Given the description of an element on the screen output the (x, y) to click on. 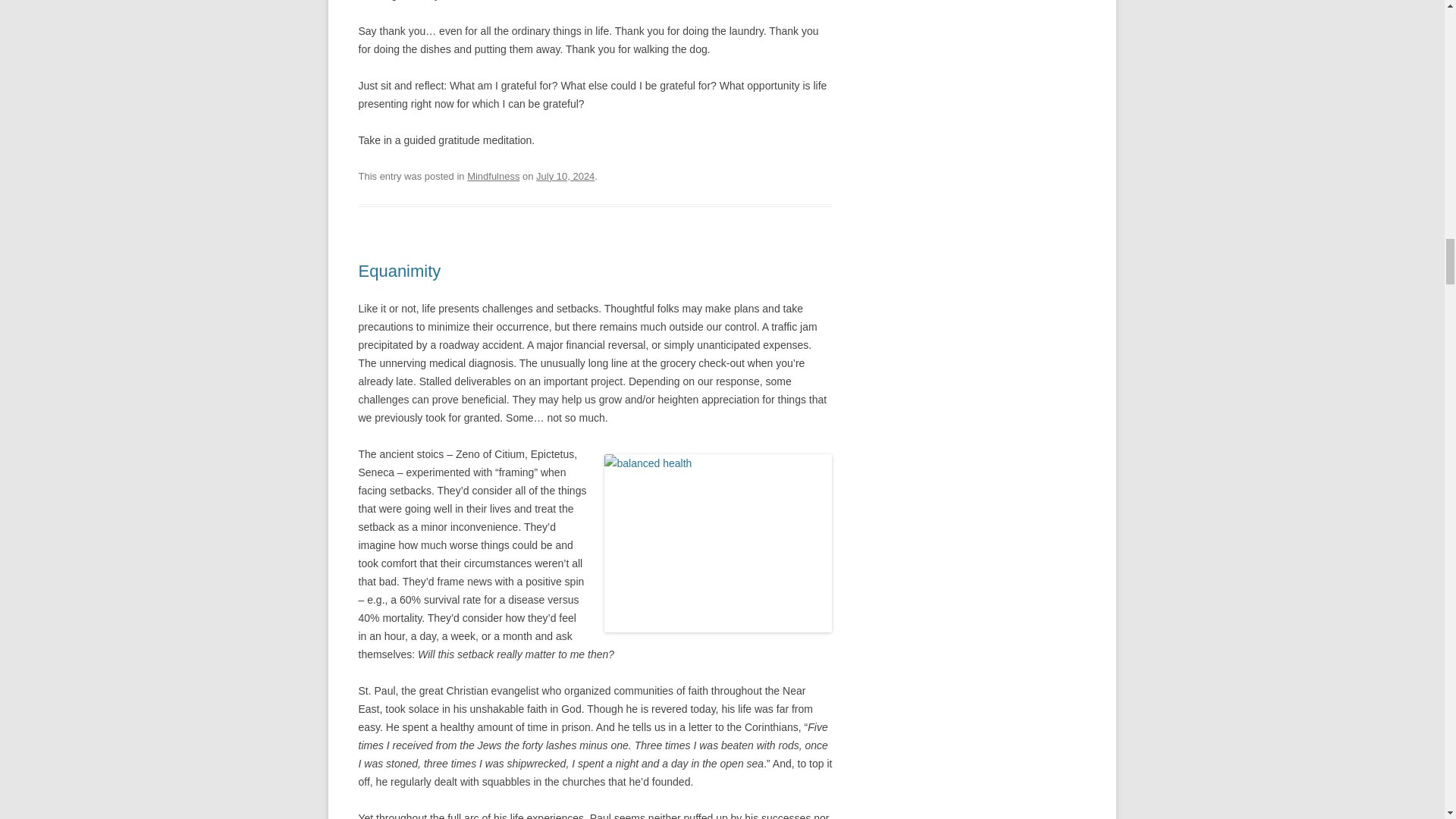
July 10, 2024 (564, 175)
Equanimity (399, 270)
6:00 am (564, 175)
Mindfulness (493, 175)
